Given the description of an element on the screen output the (x, y) to click on. 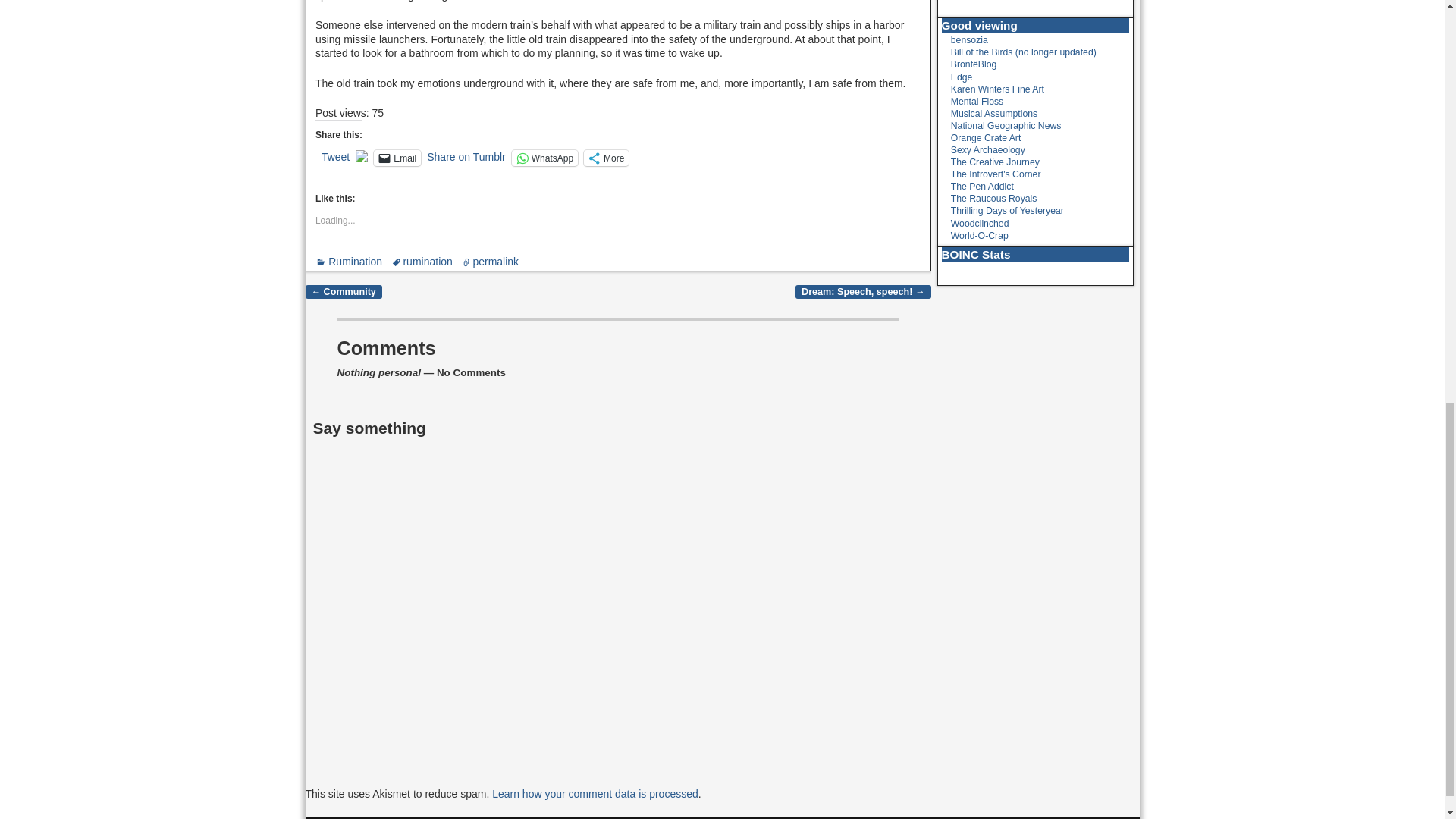
More (605, 157)
Rumination (355, 261)
Sadly, Bill has died. (1023, 51)
Share on Tumblr (465, 156)
permalink (494, 261)
Permalink to Nothing personal (494, 261)
Tweet (335, 156)
Click to email a link to a friend (397, 157)
Learn how your comment data is processed (595, 793)
